Given the description of an element on the screen output the (x, y) to click on. 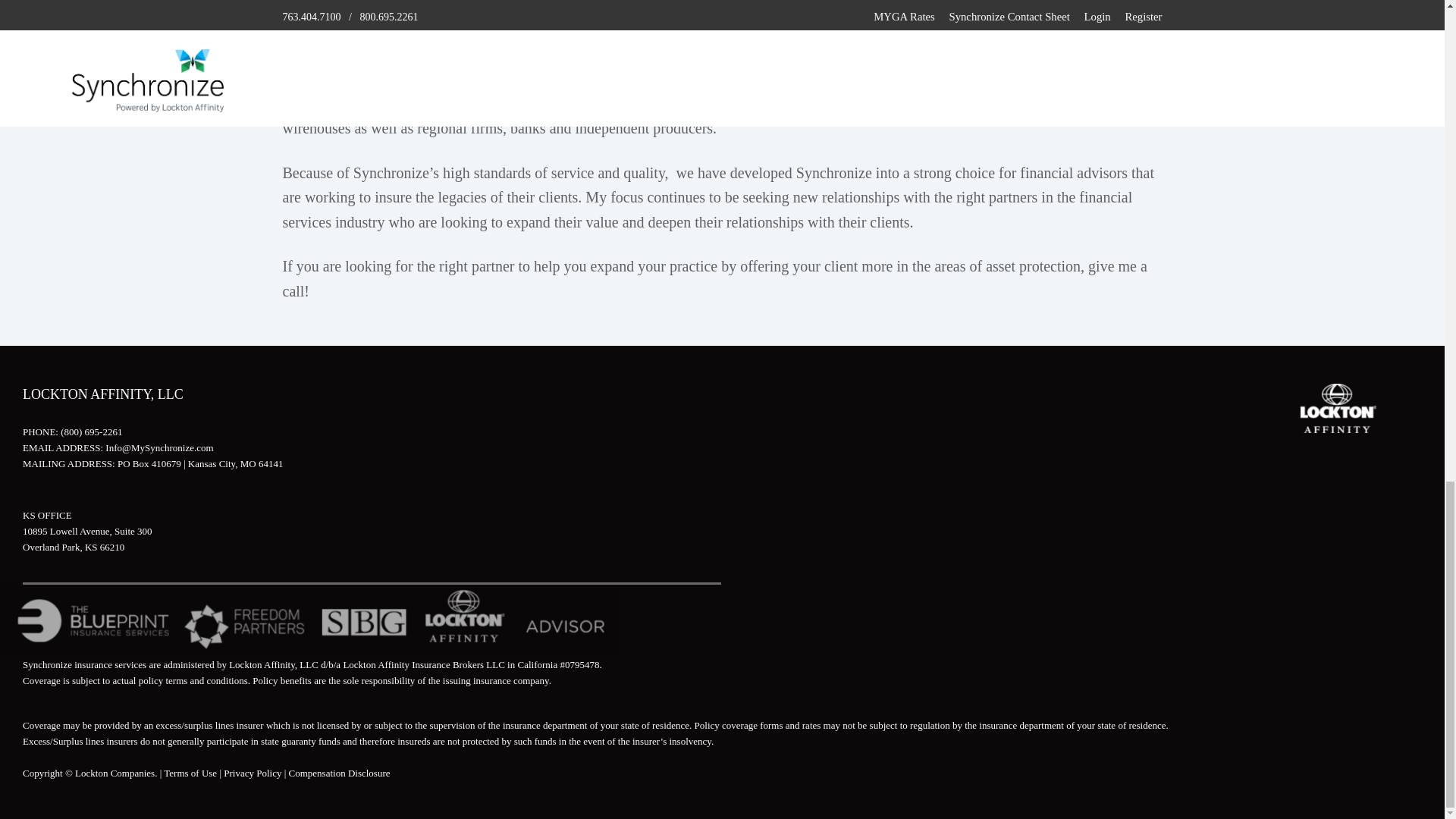
SynFooterImage-950x111 (308, 620)
Lockton-Affinity-Logo-OL-White-200-x-131-110x72 (1337, 408)
